Given the description of an element on the screen output the (x, y) to click on. 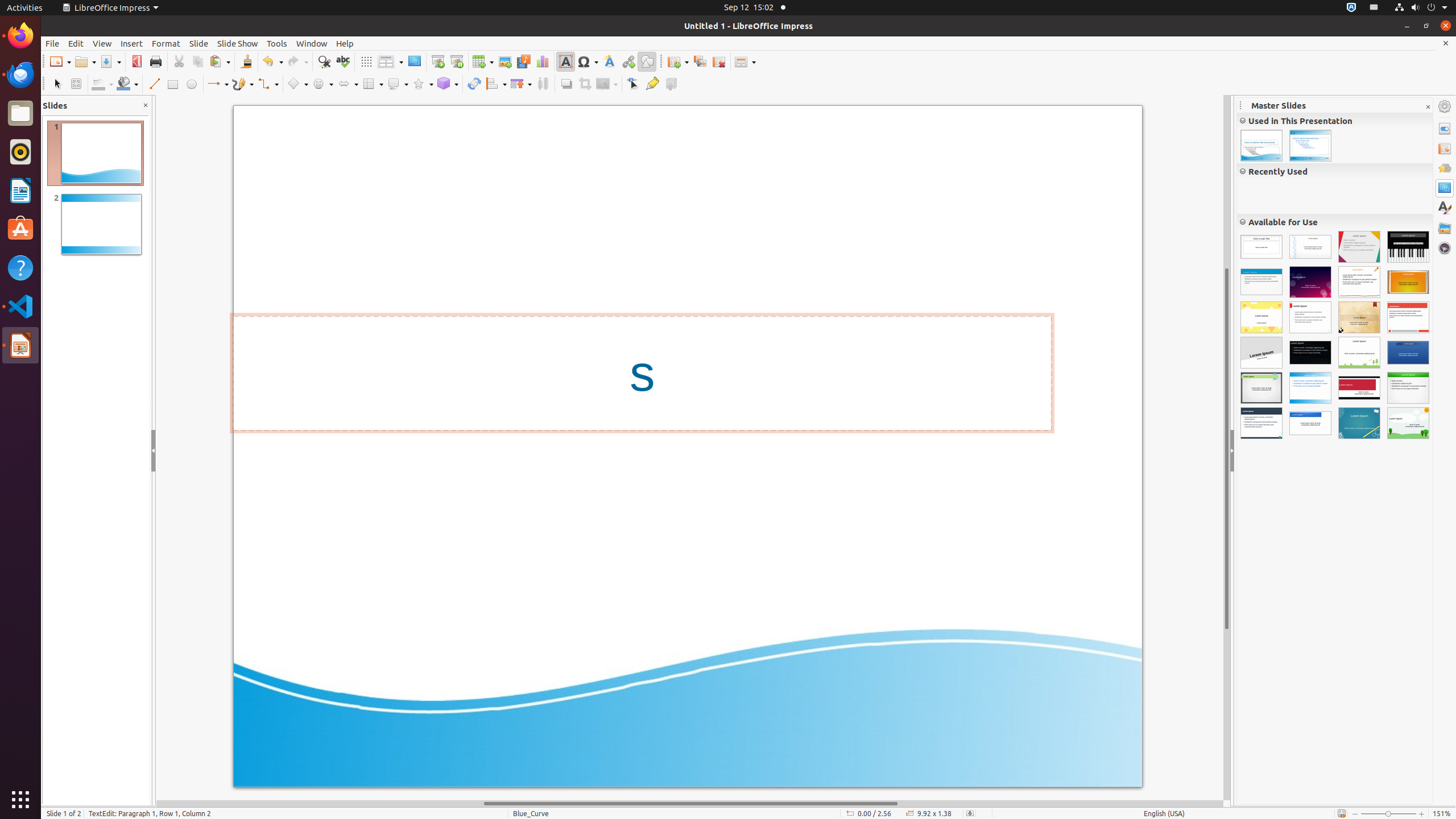
Metropolis Element type: list-item (1407, 352)
Portfolio Element type: list-item (1309, 352)
Slide Transition Element type: radio-button (1444, 148)
Slide Show Element type: menu (237, 43)
Rectangle Element type: push-button (172, 83)
